Given the description of an element on the screen output the (x, y) to click on. 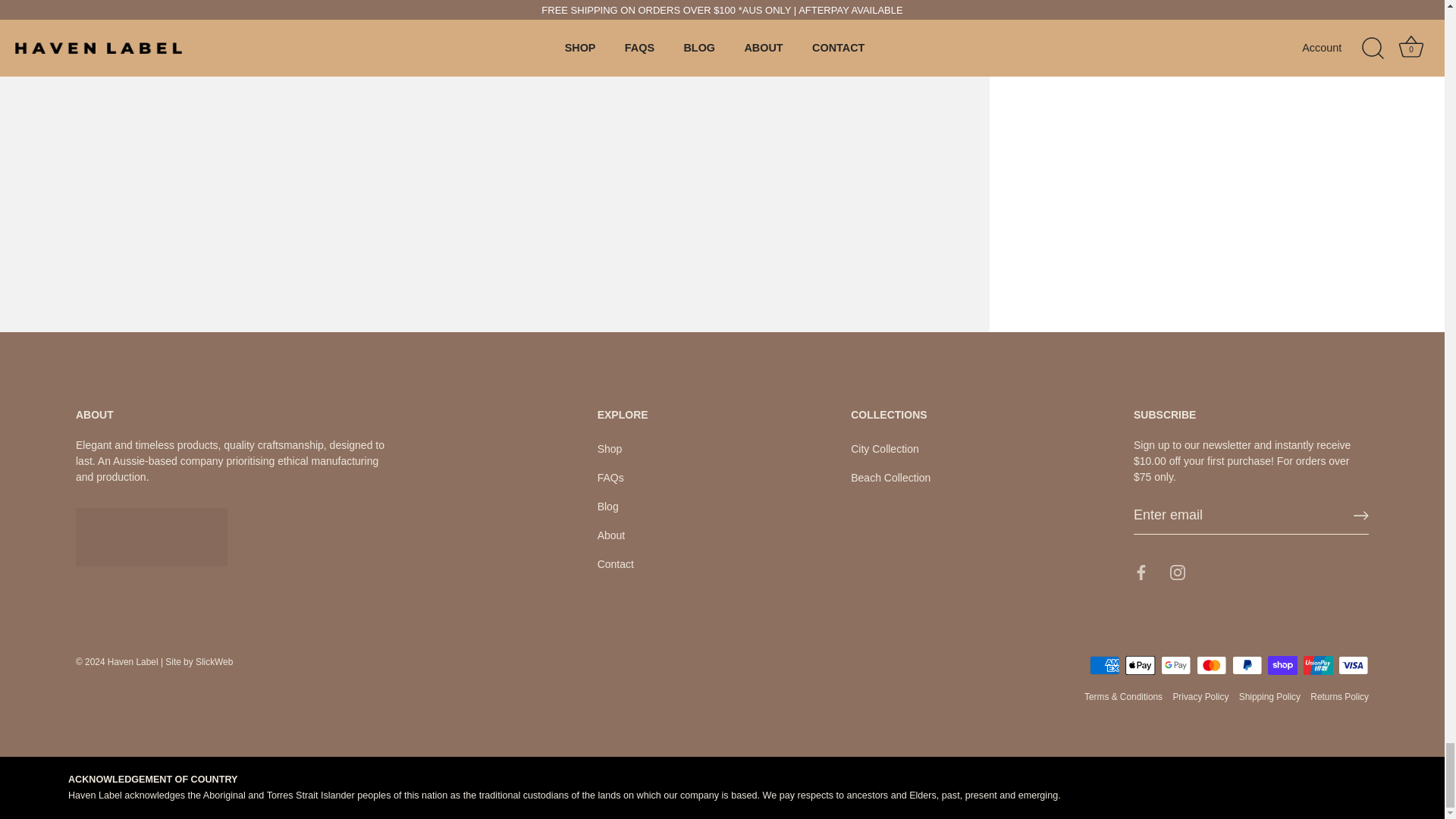
Apple Pay (1140, 665)
PayPal (1246, 665)
Union Pay (1318, 665)
RIGHT ARROW LONG (1361, 515)
Google Pay (1175, 665)
American Express (1104, 665)
Mastercard (1210, 665)
Visa (1353, 665)
Instagram (1177, 572)
Shop Pay (1282, 665)
